Given the description of an element on the screen output the (x, y) to click on. 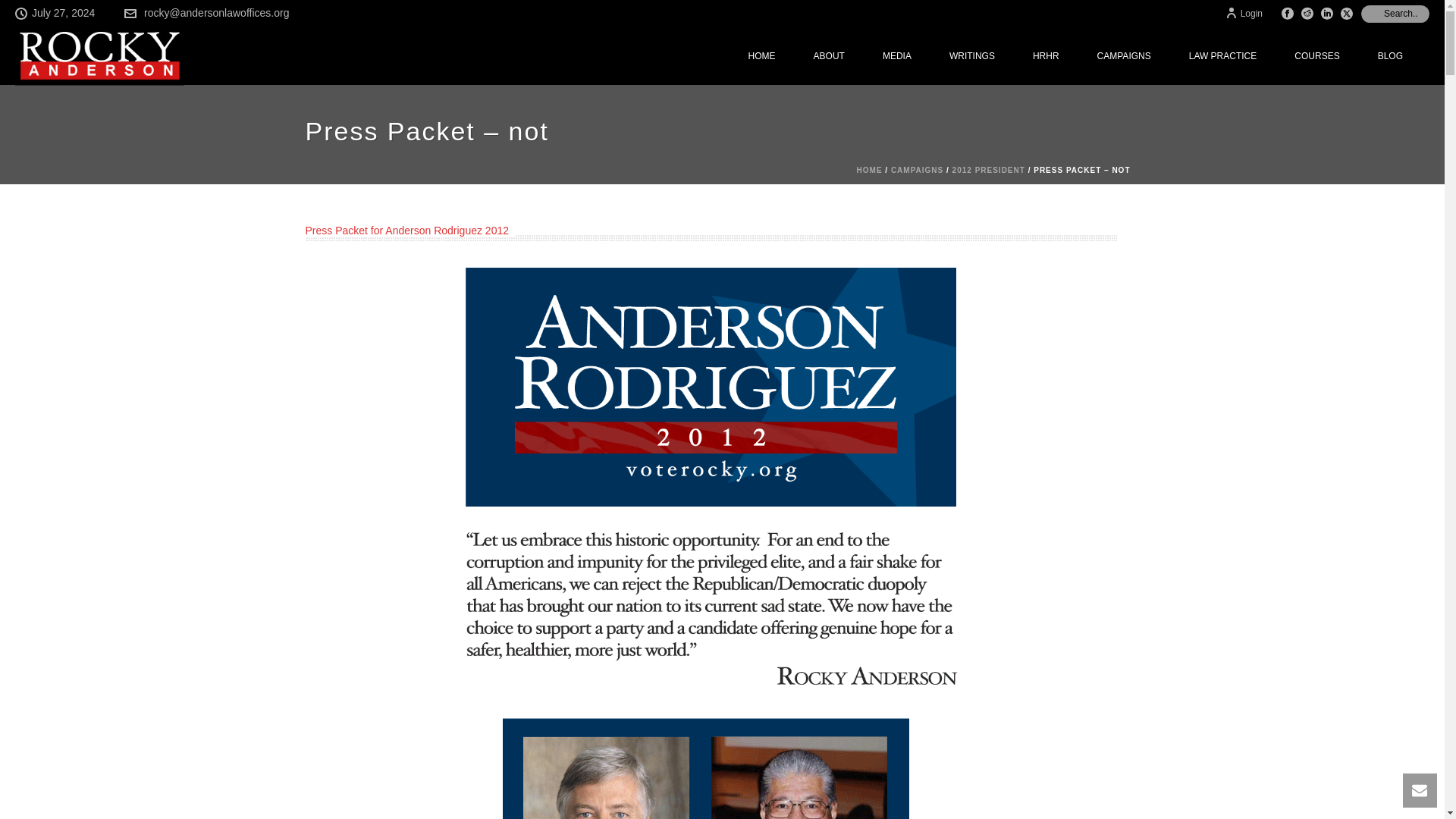
HOME (761, 55)
voterocky (710, 386)
LAW PRACTICE (1223, 55)
ABOUT (828, 55)
ABOUT (828, 55)
BLOG (1390, 55)
COURSES (1316, 55)
MEDIA (896, 55)
HRHR (1045, 55)
MEDIA (896, 55)
HOME (761, 55)
Login (1243, 13)
CAMPAIGNS (1124, 55)
WRITINGS (971, 55)
